Given the description of an element on the screen output the (x, y) to click on. 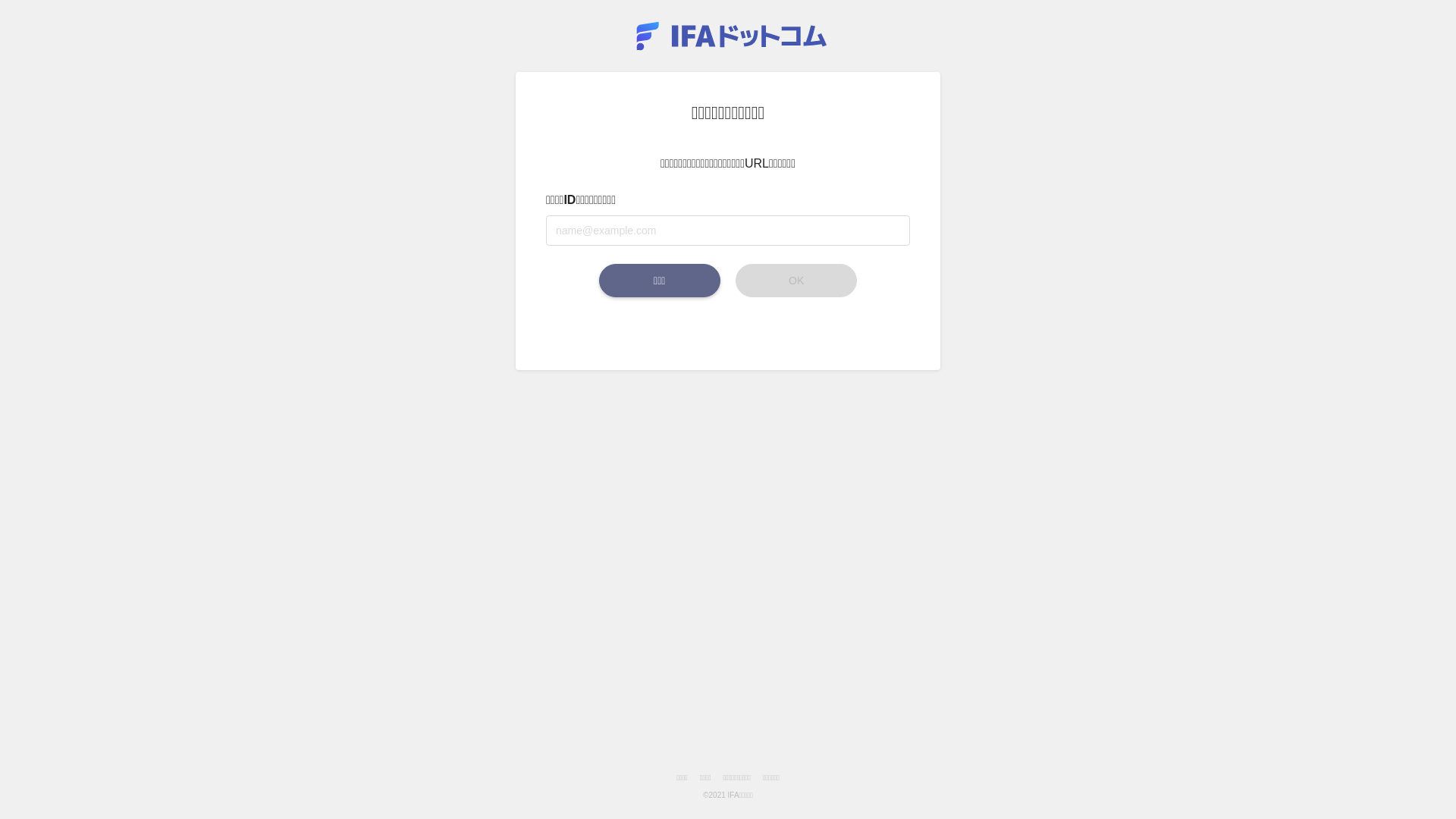
OK Element type: text (795, 280)
